Given the description of an element on the screen output the (x, y) to click on. 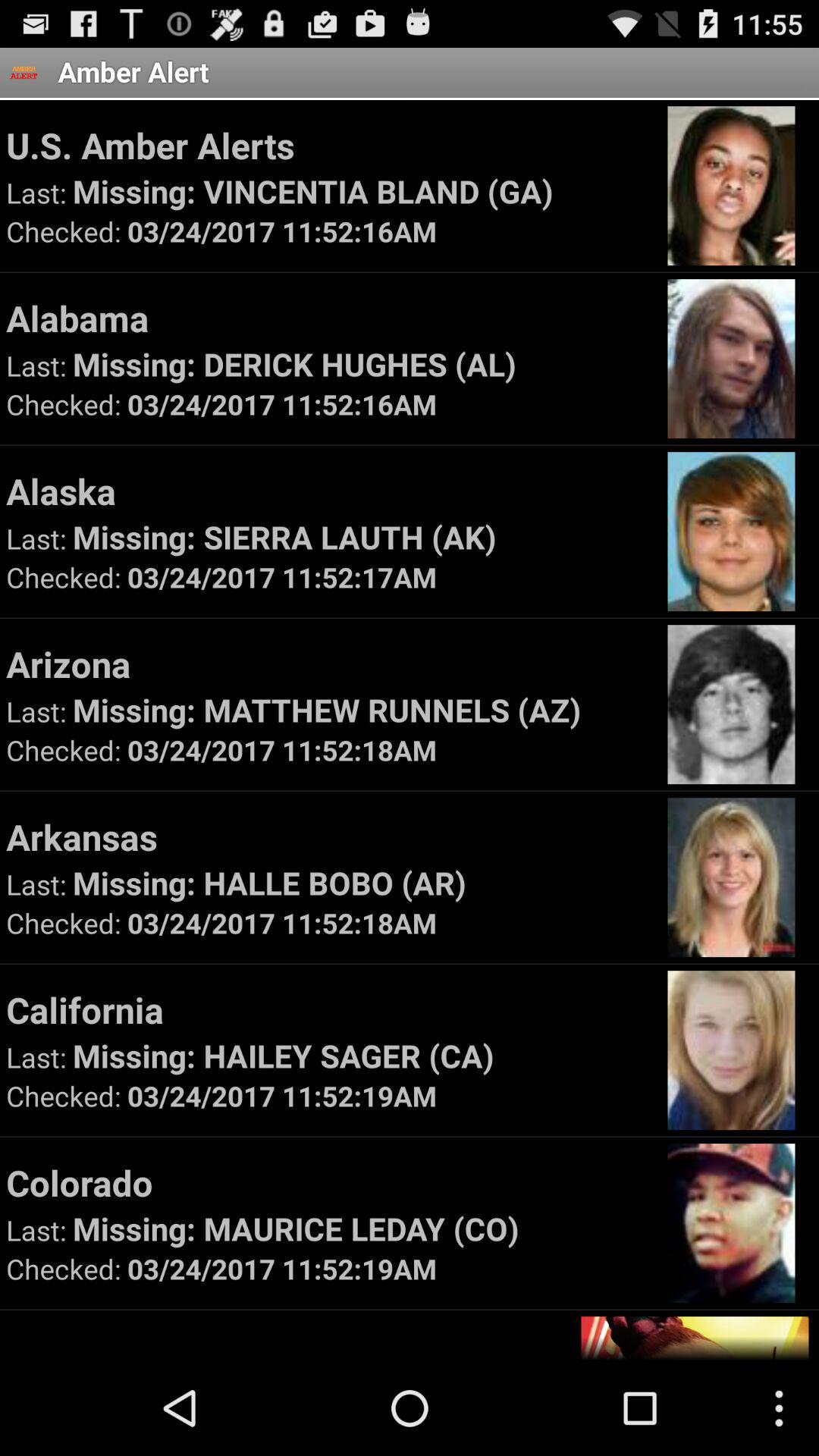
swipe until the california icon (329, 1009)
